Given the description of an element on the screen output the (x, y) to click on. 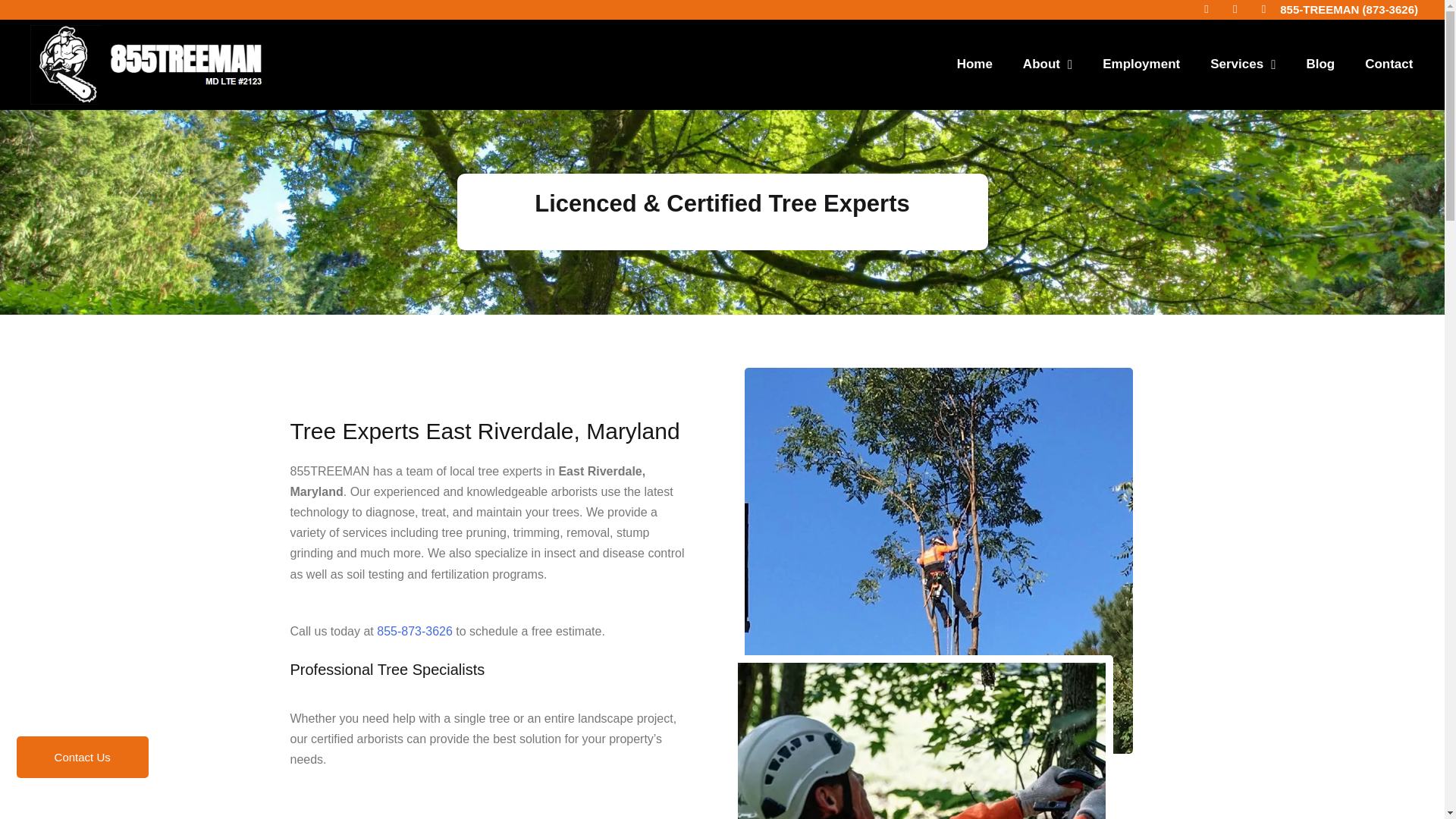
Employment (1141, 63)
Blog (1319, 63)
Services (1242, 63)
Contact (1388, 63)
Home (974, 63)
About (1047, 63)
